Given the description of an element on the screen output the (x, y) to click on. 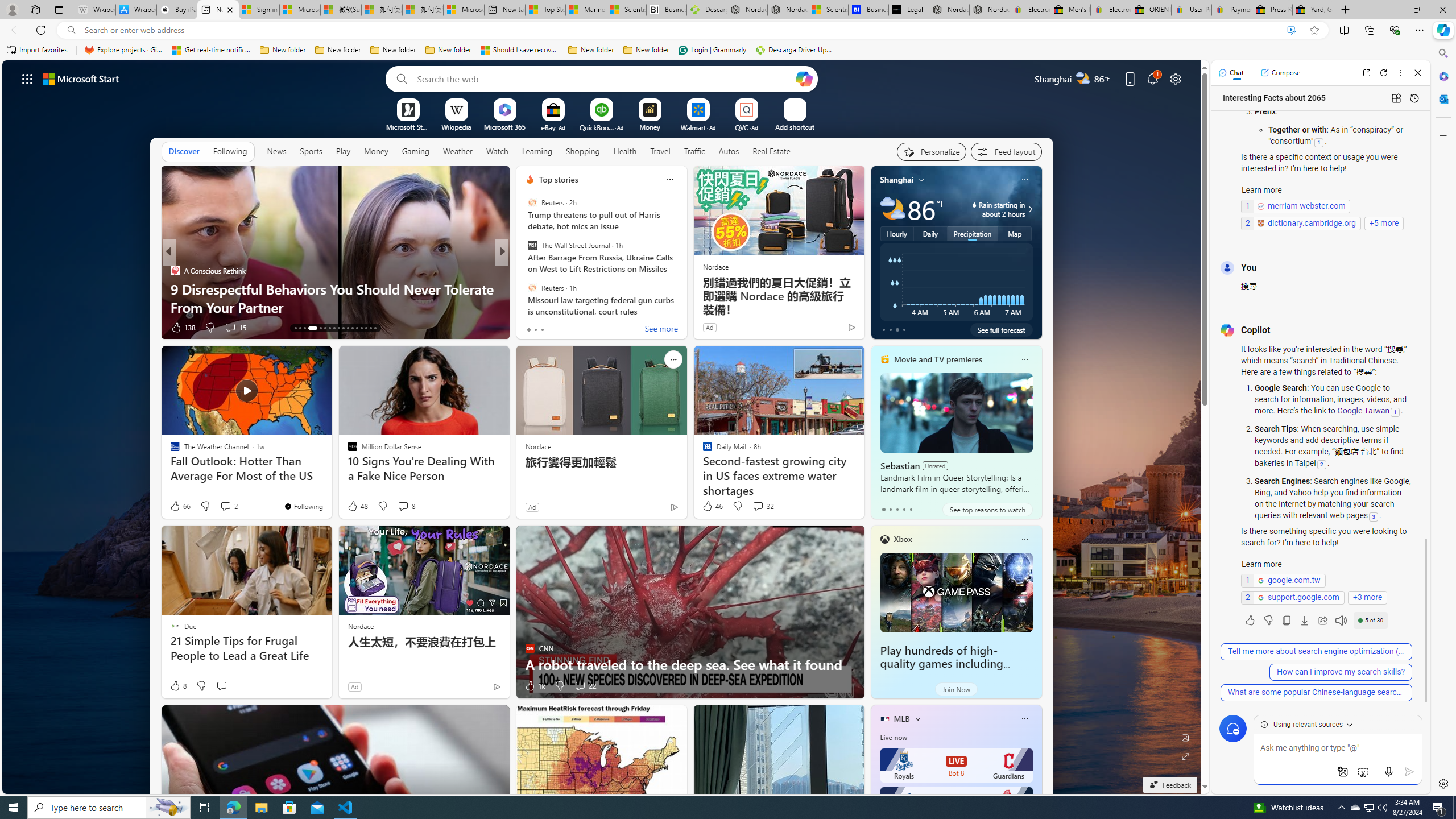
If You Do These 15 Things You're An Introvert (684, 307)
Xbox (902, 538)
